Given the description of an element on the screen output the (x, y) to click on. 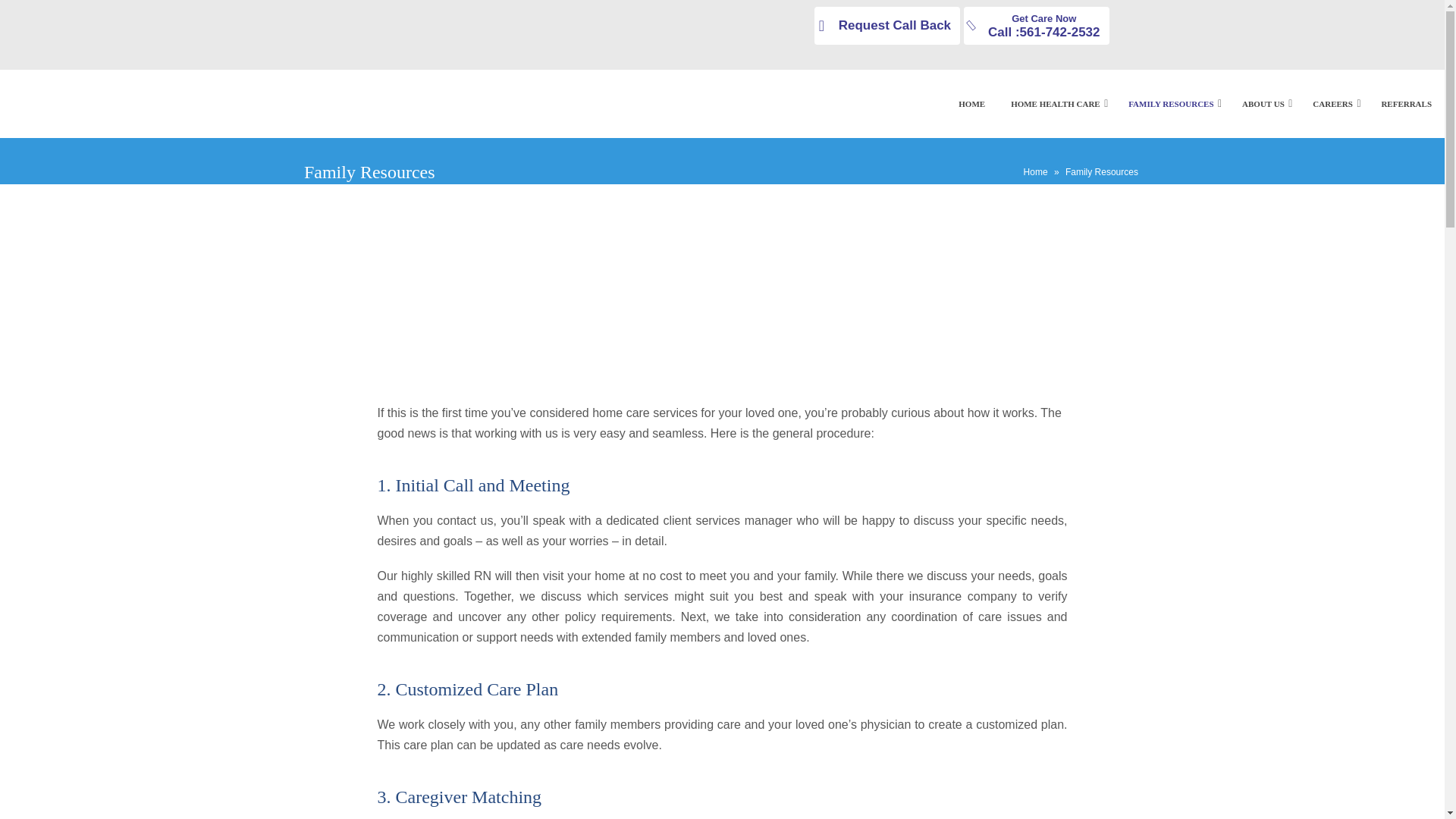
Request Call Back (886, 25)
HOME HEALTH CARE (1035, 25)
FAMILY RESOURCES (1055, 103)
